Given the description of an element on the screen output the (x, y) to click on. 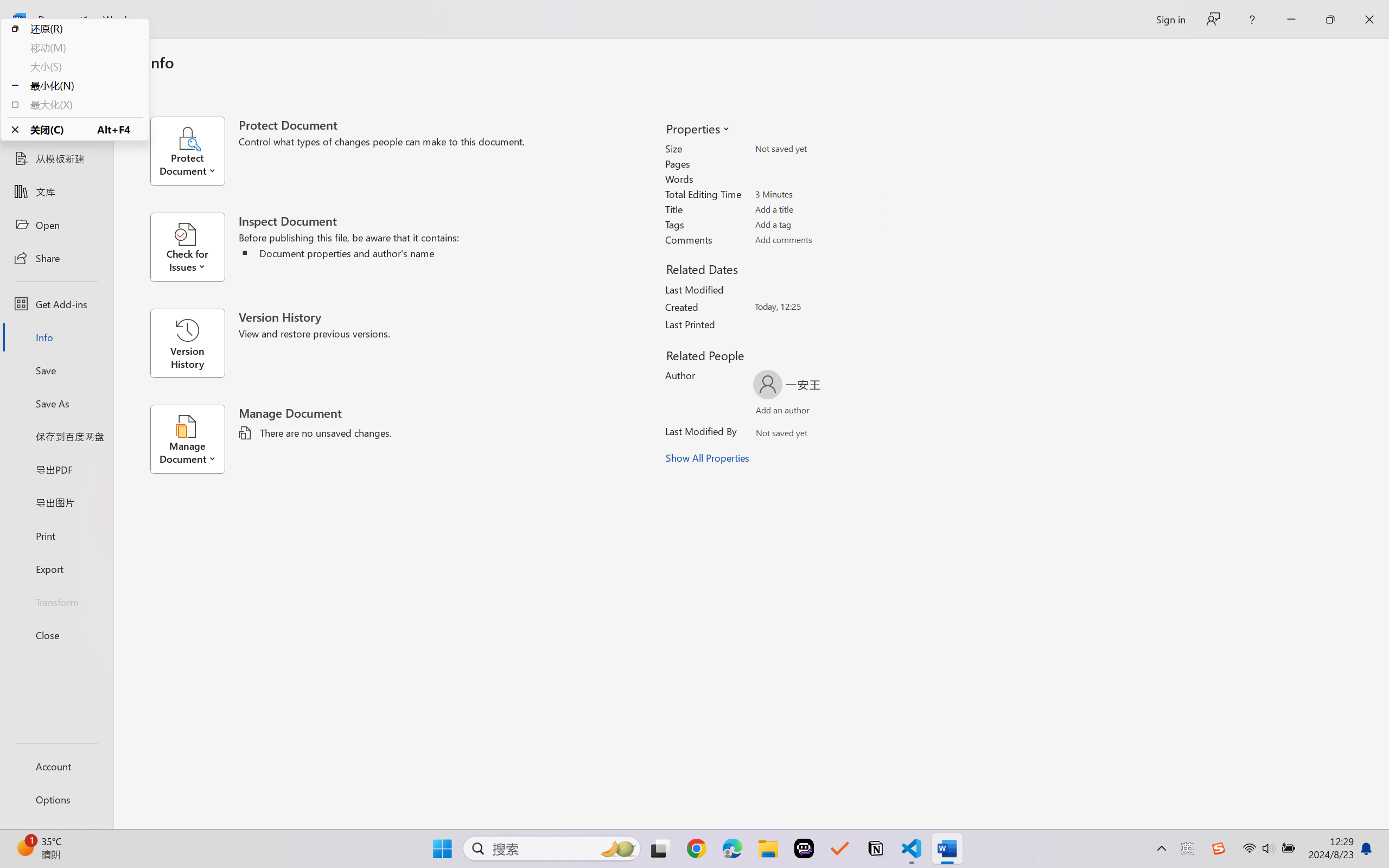
Title (818, 209)
Export (56, 568)
Save As (56, 403)
Tags (818, 223)
Total Editing Time (818, 193)
Transform (56, 601)
Not saved yet (772, 434)
Get Add-ins (56, 303)
